Given the description of an element on the screen output the (x, y) to click on. 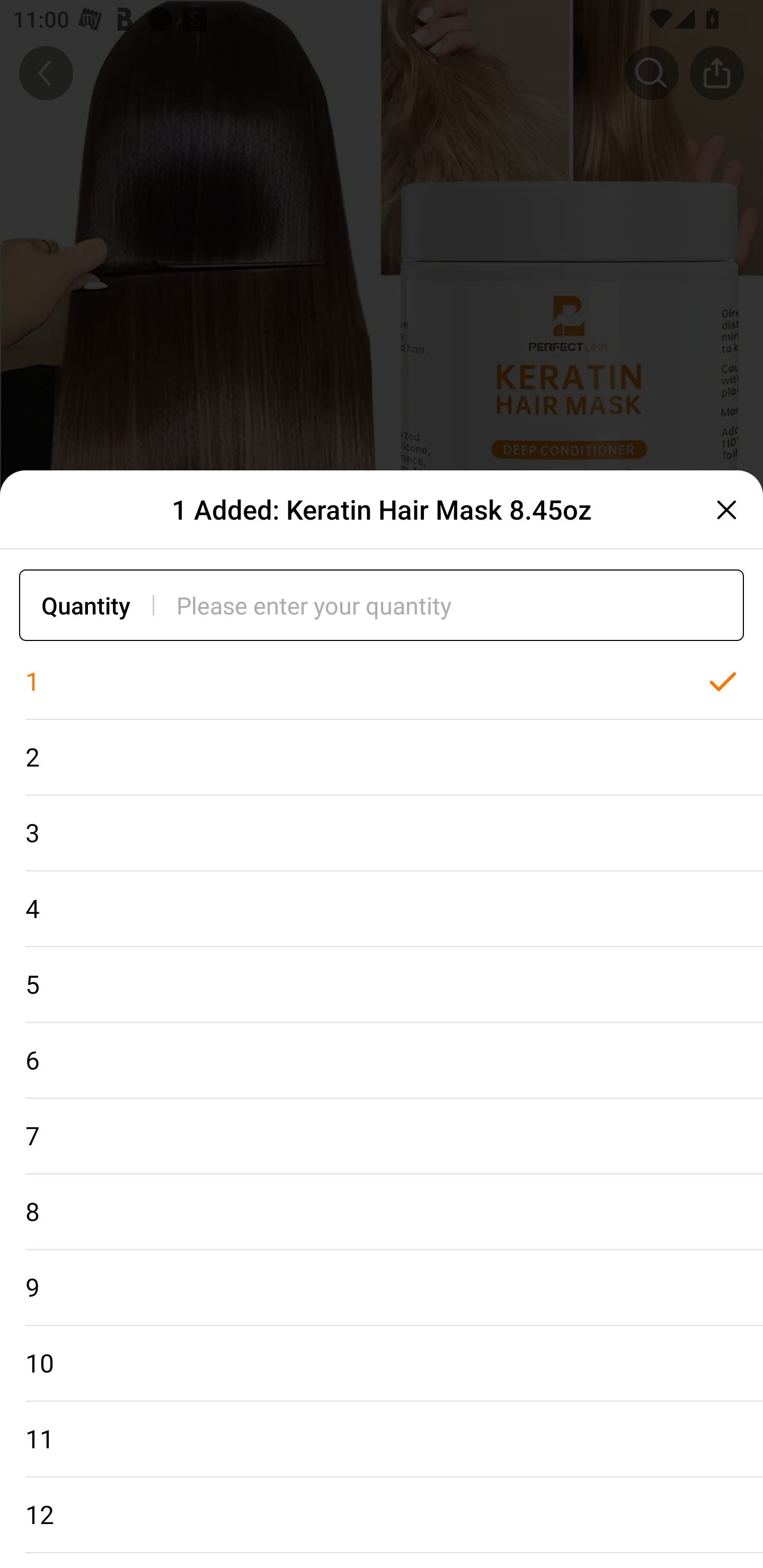
Please enter your quantity (459, 605)
1 (381, 681)
2 (381, 756)
3 (381, 832)
4 (381, 909)
5 (381, 984)
6 (381, 1060)
7 (381, 1136)
8 (381, 1211)
9 (381, 1287)
10 (381, 1363)
11 (381, 1439)
12 (381, 1515)
